Given the description of an element on the screen output the (x, y) to click on. 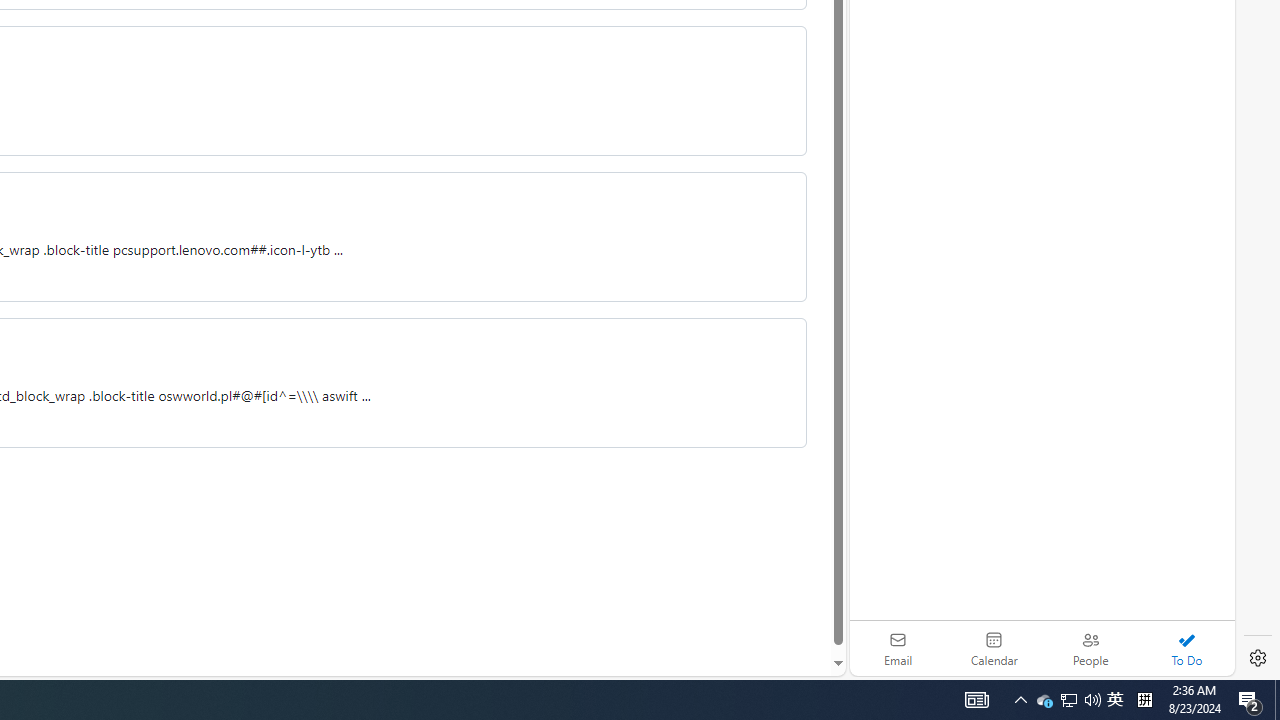
People (1090, 648)
To Do (1186, 648)
Email (898, 648)
Calendar. Date today is 22 (994, 648)
